Given the description of an element on the screen output the (x, y) to click on. 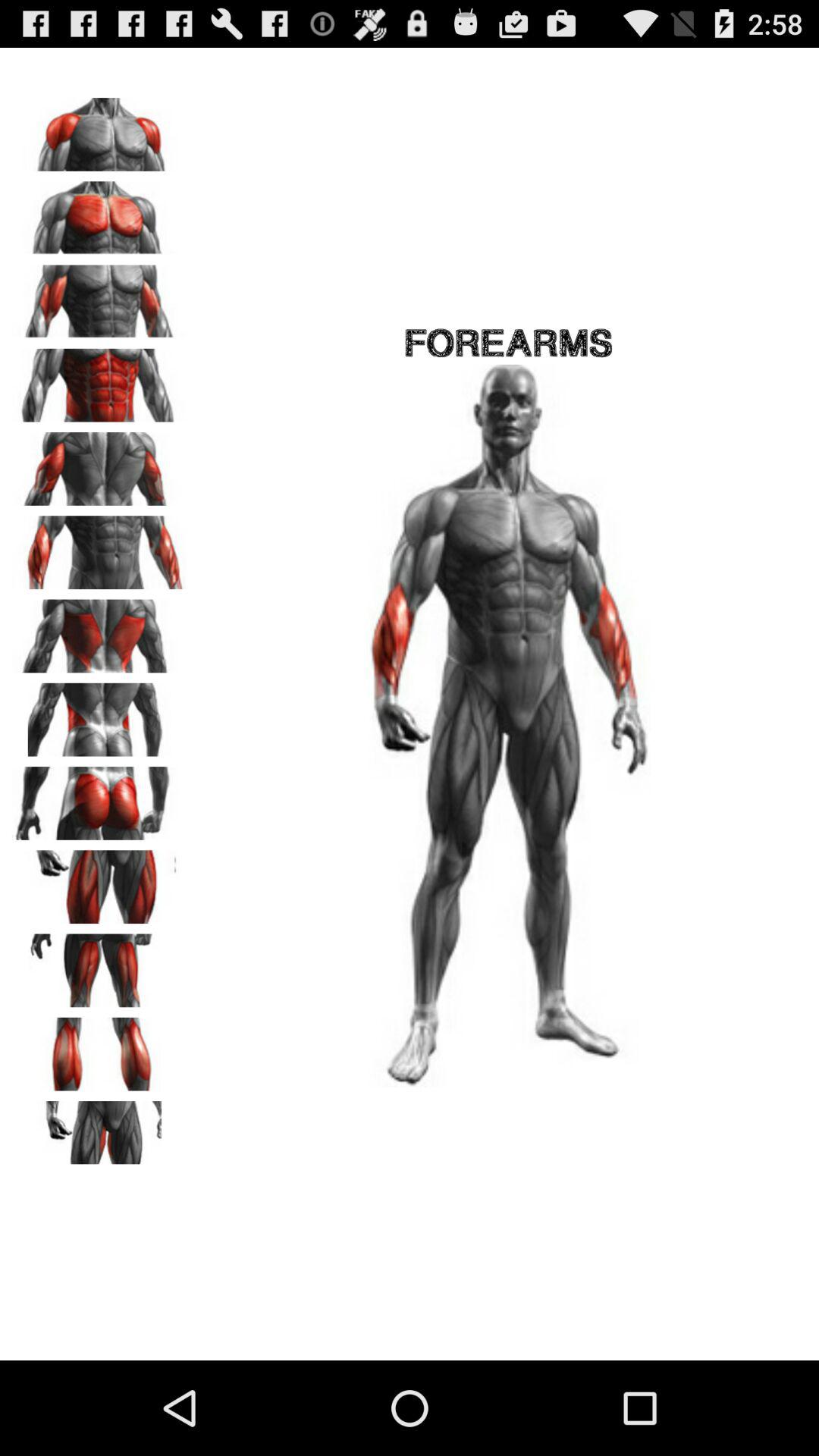
shoulder (99, 129)
